Given the description of an element on the screen output the (x, y) to click on. 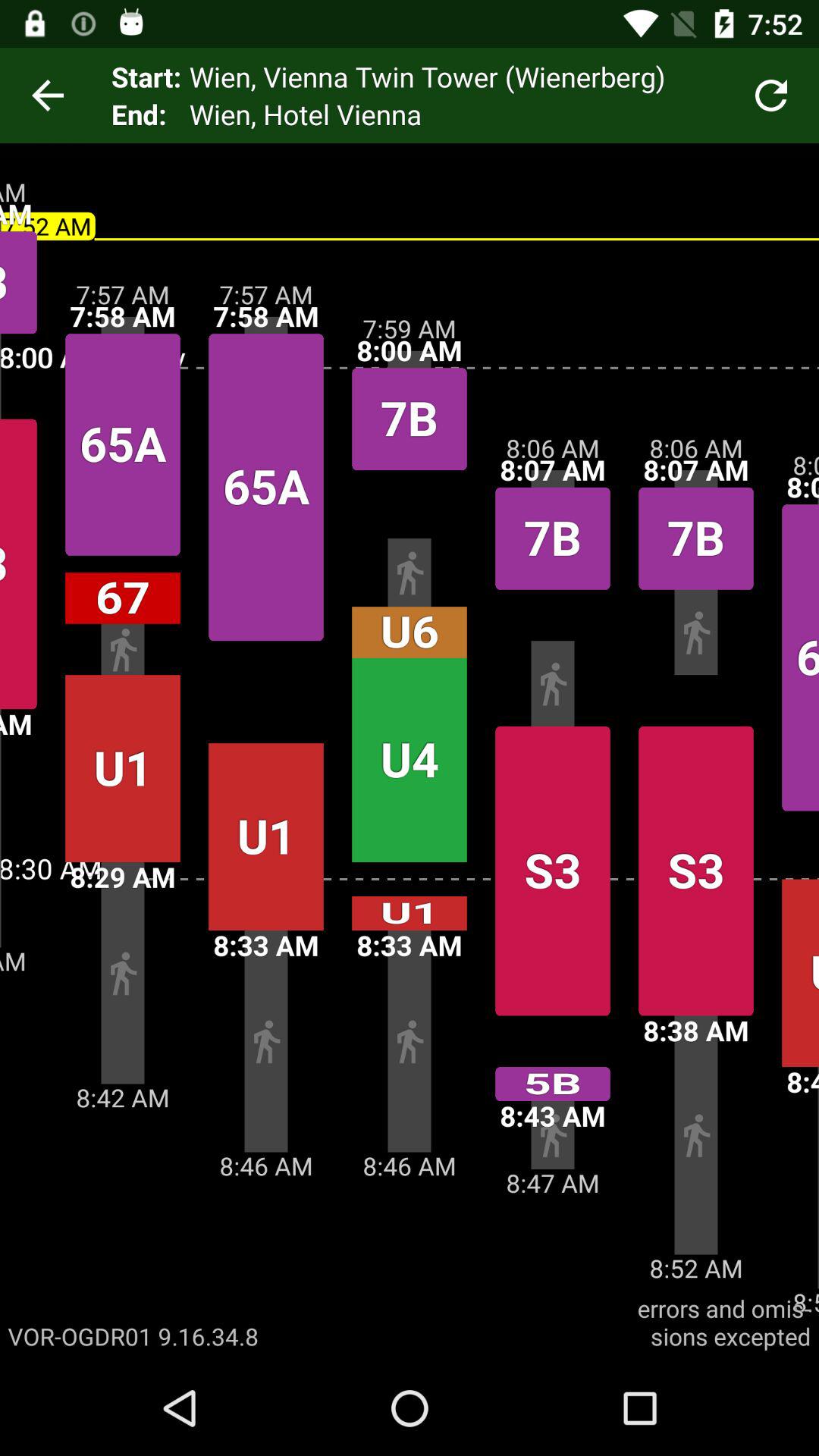
open icon next to the start: app (47, 95)
